Given the description of an element on the screen output the (x, y) to click on. 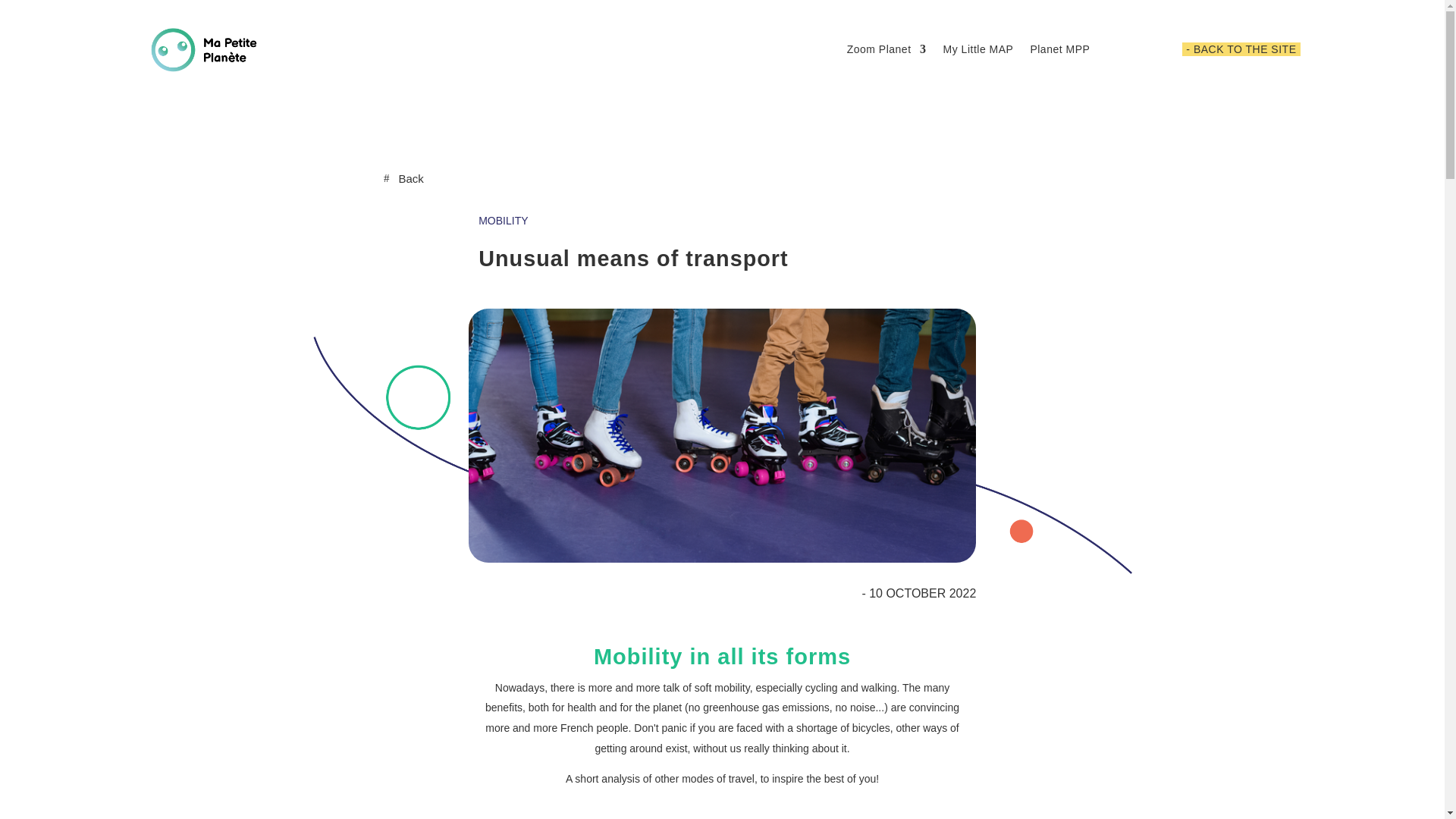
My Little MAP (978, 48)
- BACK TO THE SITE (1241, 49)
Zoom Planet (886, 48)
Back (403, 178)
Planet MPP (1059, 48)
MOBILITY (503, 220)
